Given the description of an element on the screen output the (x, y) to click on. 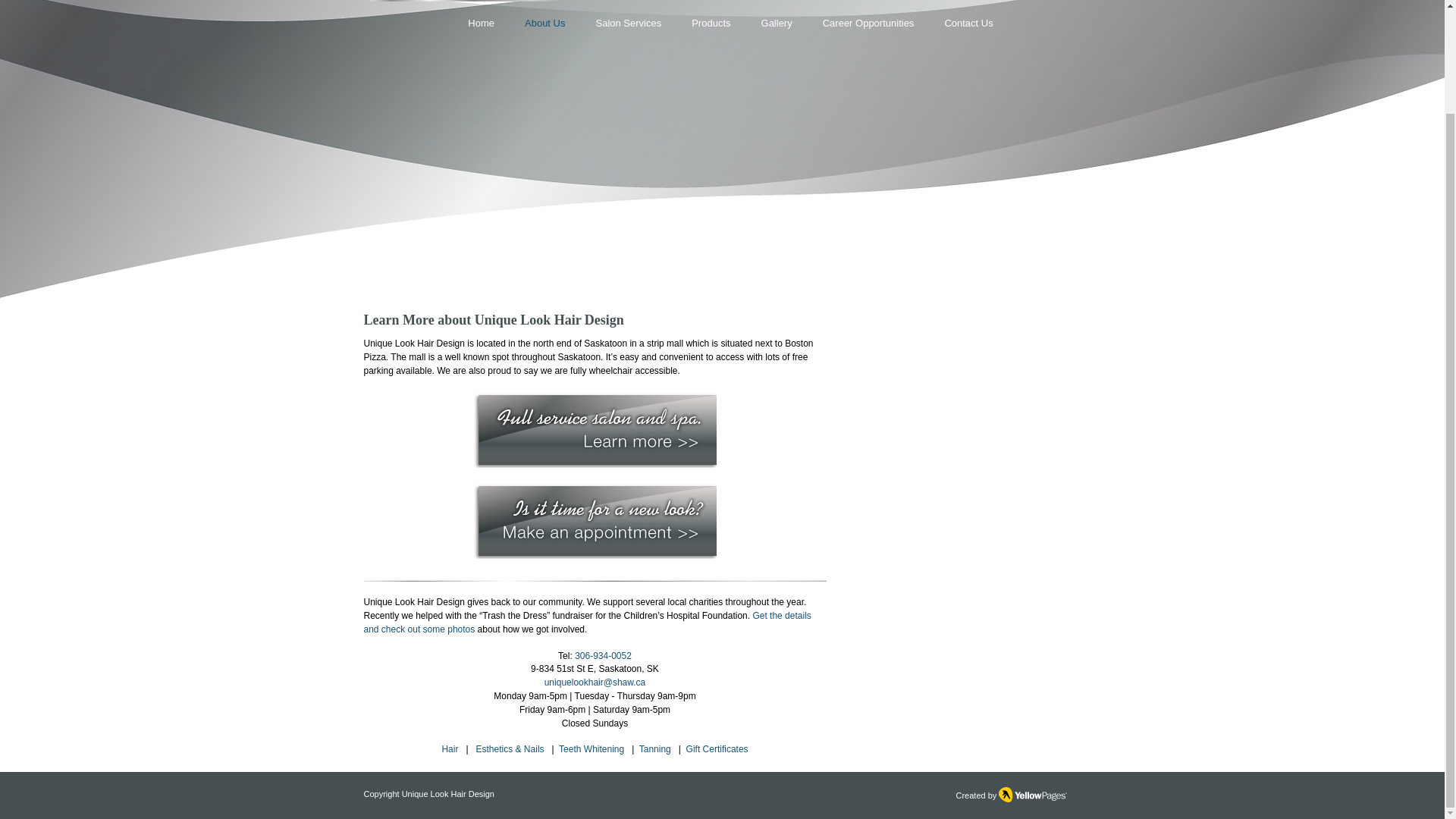
 Tanning (654, 748)
Gallery (776, 23)
Hair (449, 748)
Unique Look Hair Design (448, 793)
Salon Services (628, 23)
Products (711, 23)
About Us (544, 23)
306-934-0052 (603, 655)
Career Opportunities (869, 23)
Contact Us (967, 23)
Get the details and check out some photos (587, 622)
Gift Certificates (716, 748)
Home (480, 23)
 Teeth Whitening (590, 748)
